Given the description of an element on the screen output the (x, y) to click on. 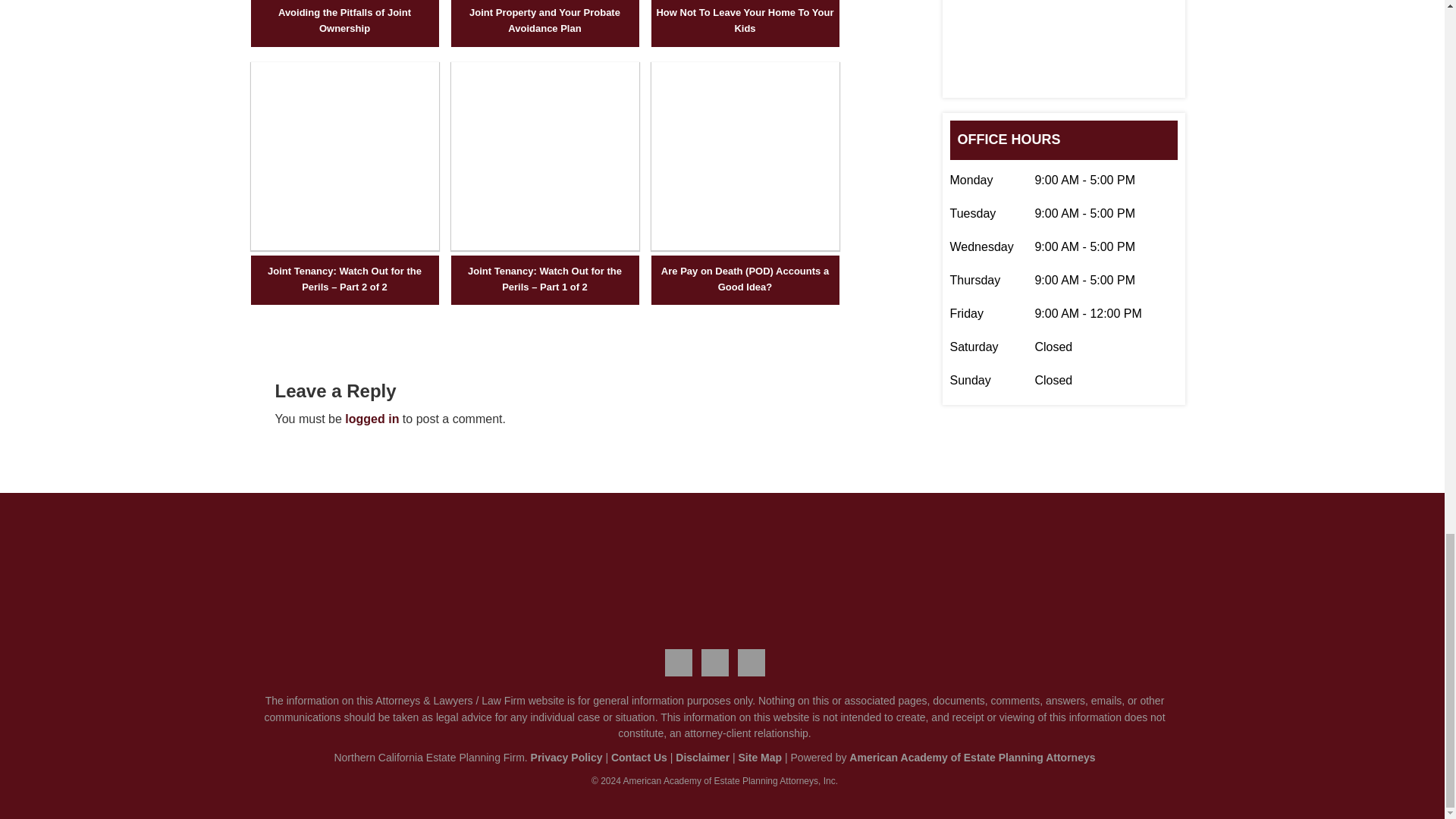
Joint Property and Your Probate Avoidance Plan (544, 20)
Avoiding the Pitfalls of Joint Ownership (344, 20)
How Not To Leave Your Home To Your Kids (745, 20)
